Given the description of an element on the screen output the (x, y) to click on. 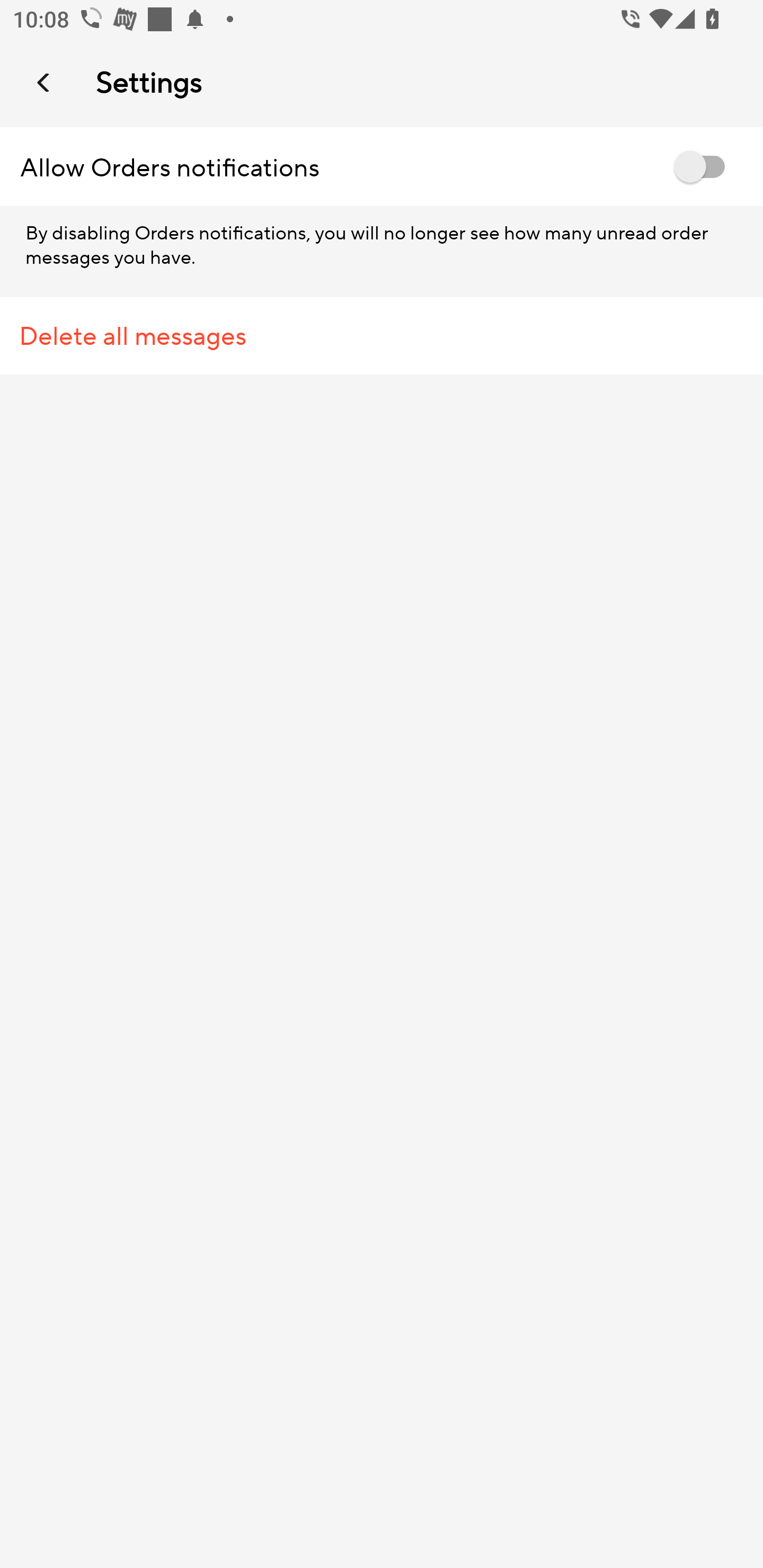
Navigate up (44, 82)
Delete all messages (381, 335)
